Given the description of an element on the screen output the (x, y) to click on. 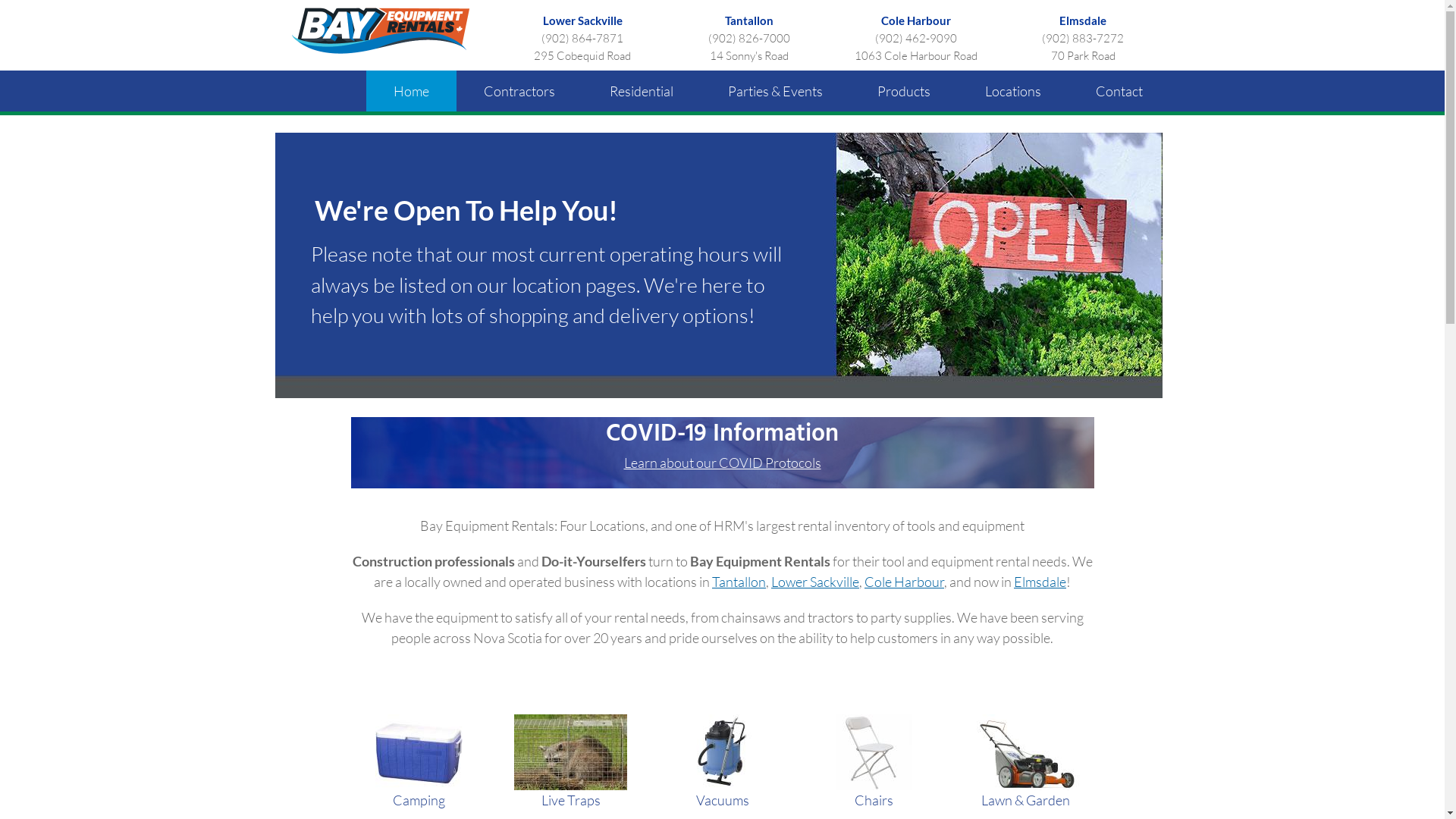
Contact Element type: text (1118, 90)
Learn about our COVID Protocols Element type: text (721, 462)
Locations Element type: text (1012, 90)
Parties & Events Element type: text (775, 90)
Residential Element type: text (641, 90)
Tantallon Element type: text (748, 20)
Cole Harbour Element type: text (915, 20)
Elmsdale Element type: text (1039, 581)
Skip to main content Element type: text (680, 1)
Home Element type: text (410, 90)
Products Element type: text (903, 90)
Lower Sackville Element type: text (815, 581)
Contractors Element type: text (519, 90)
Tantallon Element type: text (738, 581)
Elmsdale Element type: text (1082, 20)
Cole Harbour Element type: text (904, 581)
Lower Sackville Element type: text (582, 20)
